Given the description of an element on the screen output the (x, y) to click on. 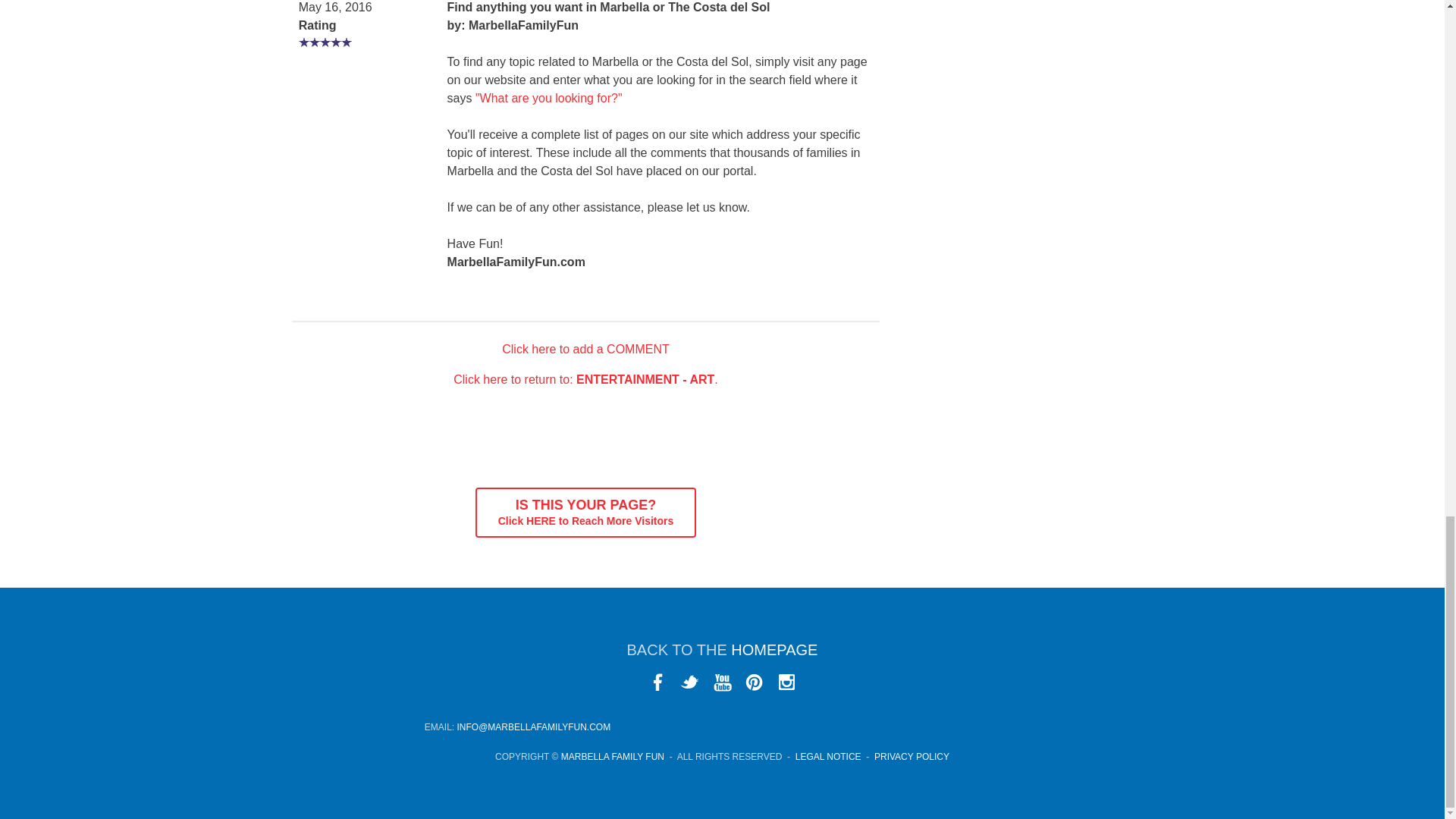
Click here to return to: ENTERTAINMENT - ART. (584, 379)
Click here to add a COMMENT (585, 349)
"What are you looking for?" (585, 512)
